Given the description of an element on the screen output the (x, y) to click on. 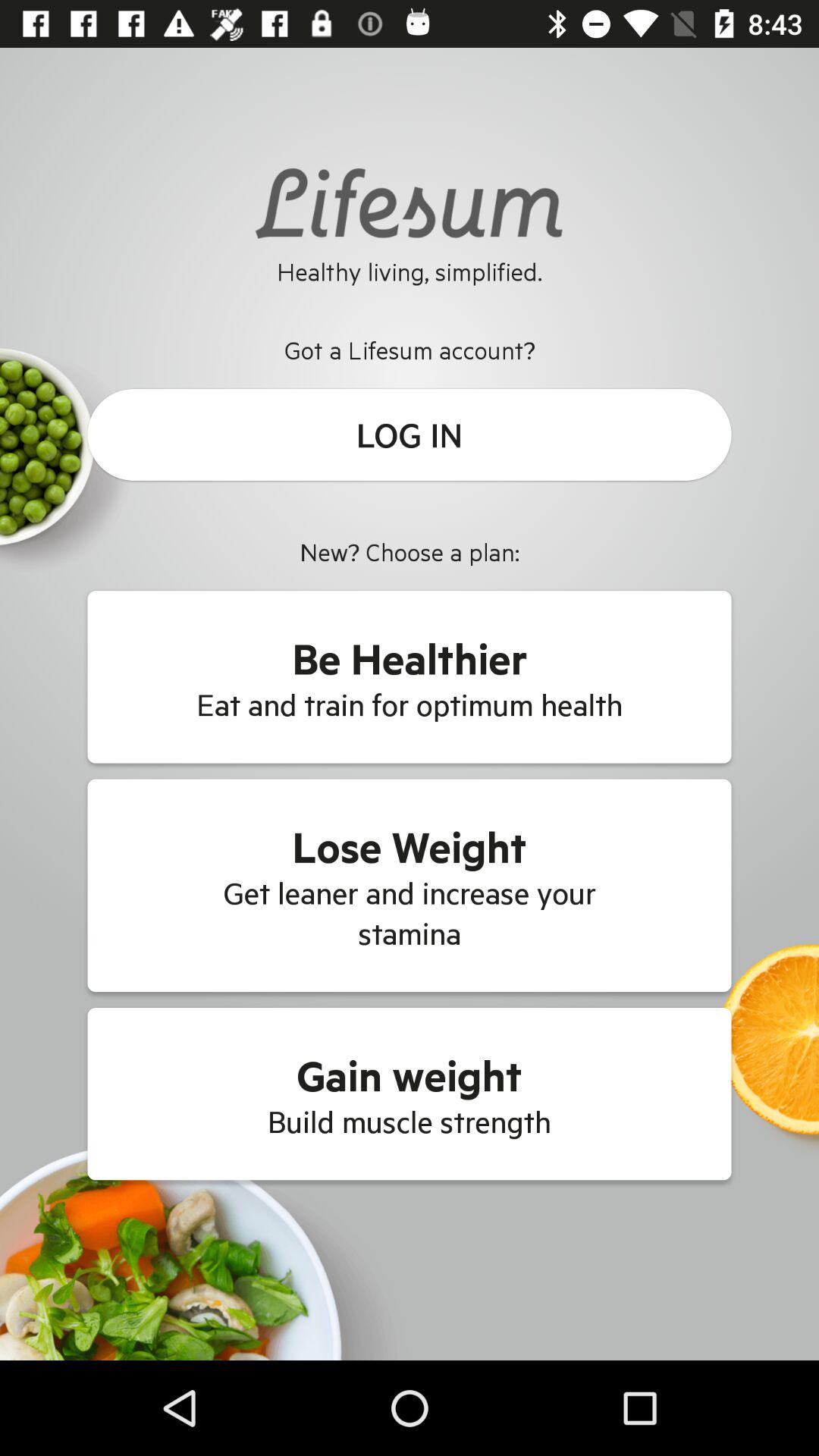
flip to log in icon (409, 434)
